Given the description of an element on the screen output the (x, y) to click on. 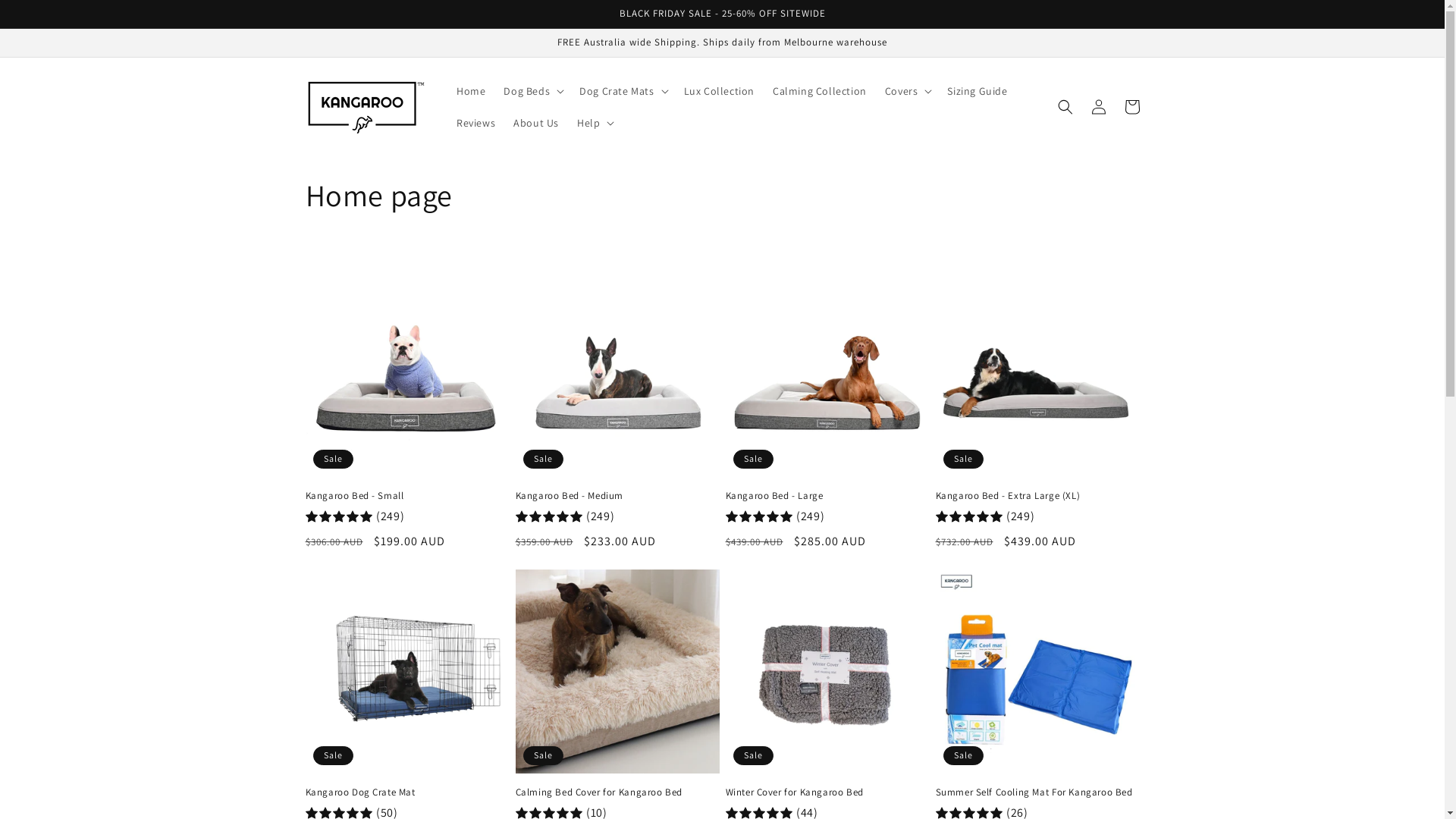
Summer Self Cooling Mat For Kangaroo Bed Element type: text (1037, 792)
Winter Cover for Kangaroo Bed Element type: text (826, 792)
Cart Element type: text (1131, 106)
Lux Collection Element type: text (718, 90)
Sizing Guide Element type: text (977, 90)
Kangaroo Bed - Extra Large (XL) Element type: text (1037, 495)
Calming Collection Element type: text (819, 90)
Calming Bed Cover for Kangaroo Bed Element type: text (617, 792)
Log in Element type: text (1097, 106)
Home Element type: text (470, 90)
Kangaroo Bed - Medium Element type: text (617, 495)
Kangaroo Bed - Large Element type: text (826, 495)
About Us Element type: text (535, 122)
Kangaroo Dog Crate Mat Element type: text (406, 792)
Reviews Element type: text (475, 122)
Kangaroo Bed - Small Element type: text (406, 495)
